Given the description of an element on the screen output the (x, y) to click on. 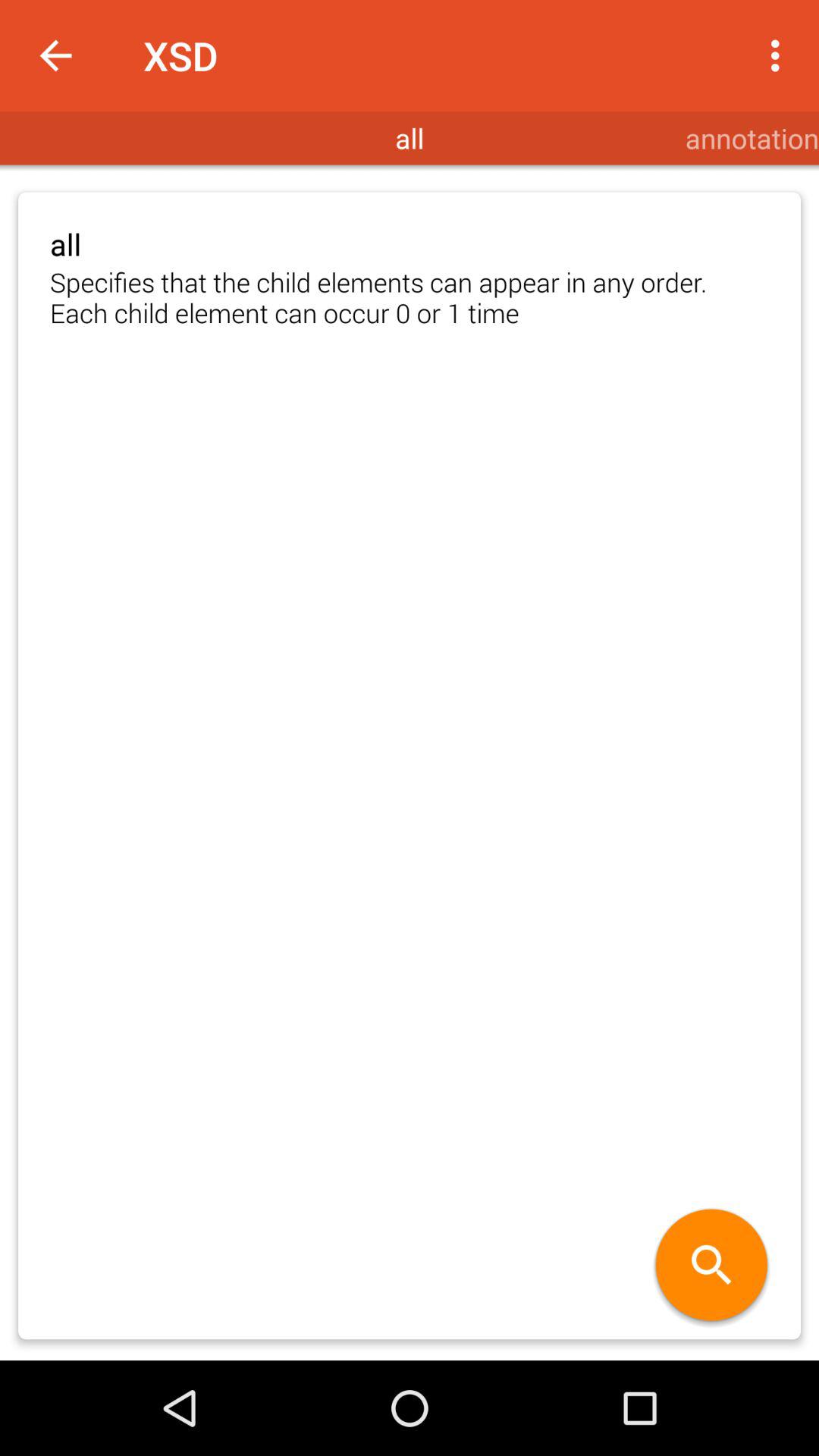
tap the icon to the right of xsd (779, 55)
